Given the description of an element on the screen output the (x, y) to click on. 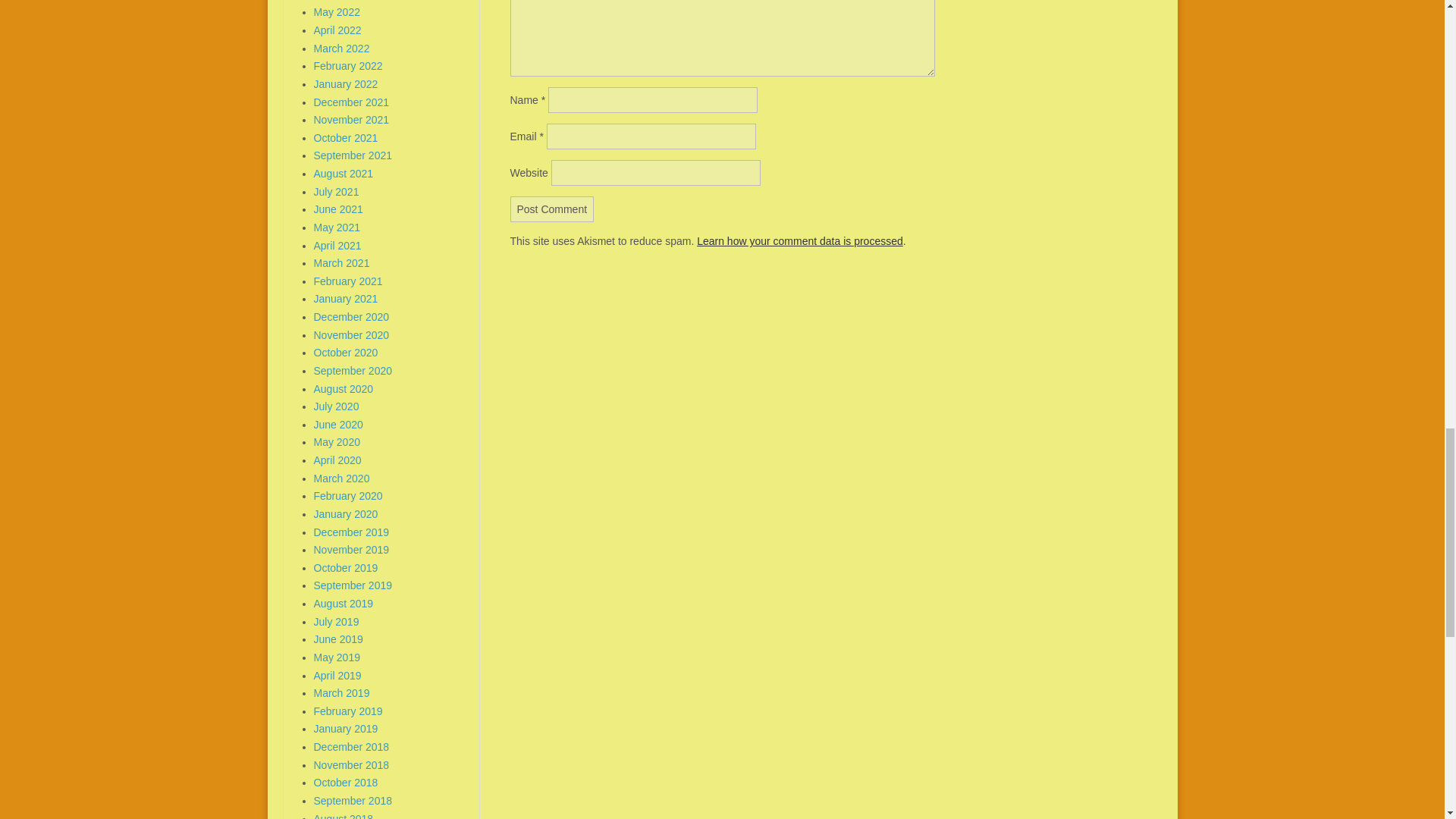
Post Comment (551, 208)
Learn how your comment data is processed (799, 241)
Post Comment (551, 208)
